Given the description of an element on the screen output the (x, y) to click on. 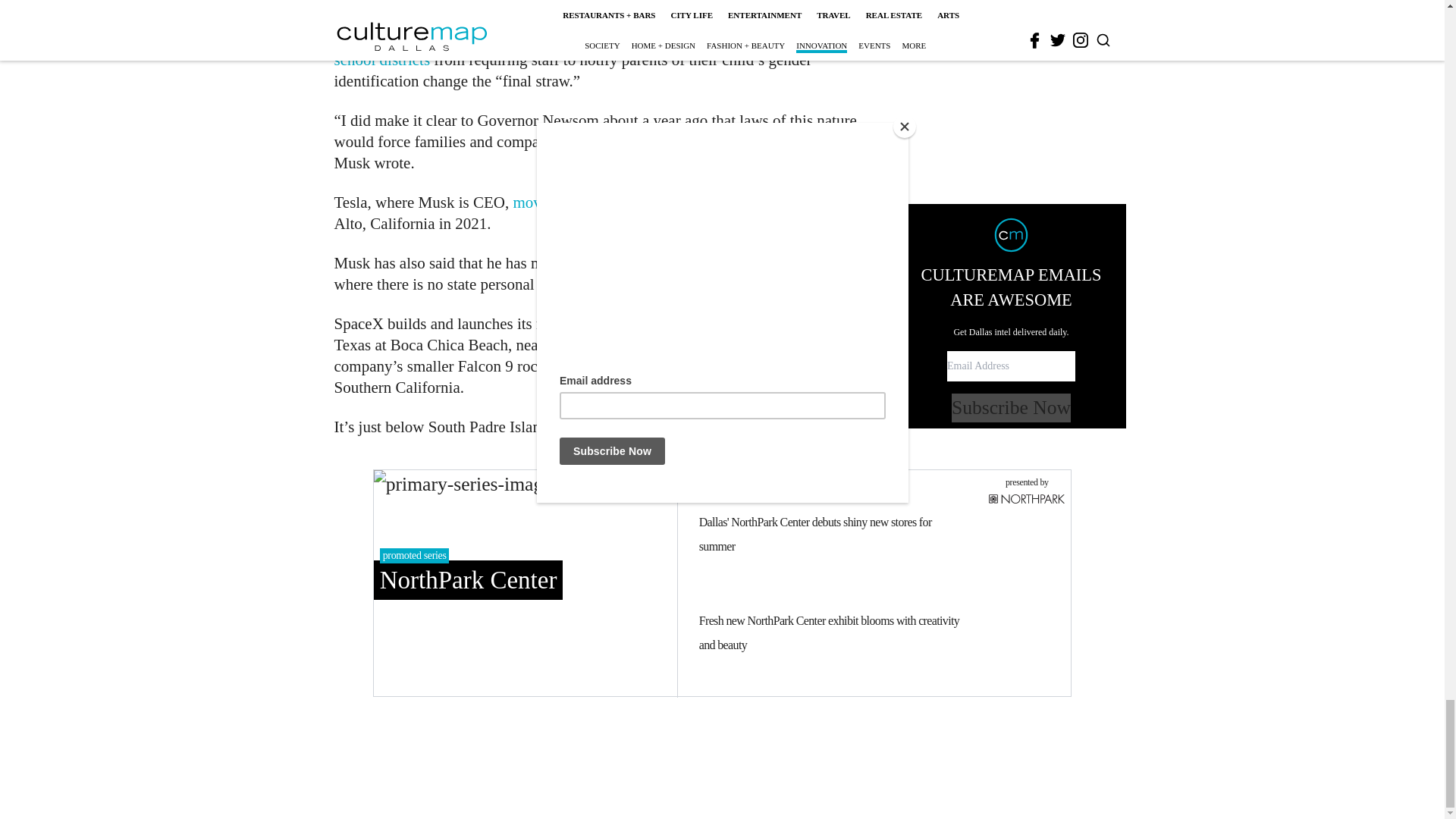
primary-link (525, 583)
Subscribe Now (1011, 164)
